Given the description of an element on the screen output the (x, y) to click on. 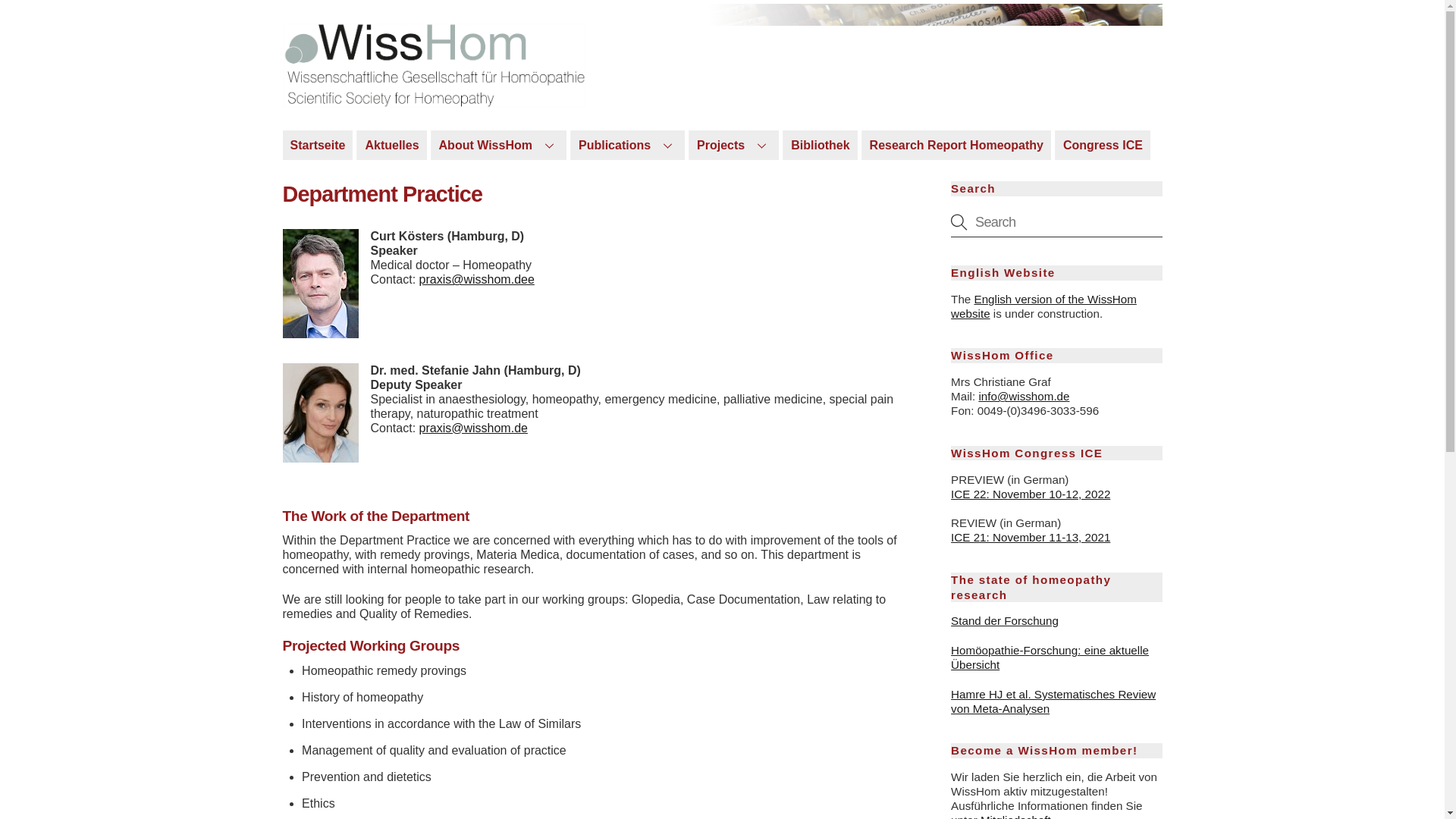
Mitgliedschaft (1015, 816)
Publications (627, 144)
Stand der Forschung (1004, 620)
About WissHom (498, 144)
Aktuelles (391, 144)
Startseite (317, 144)
Research Report Homeopathy (956, 144)
ICE 22: November 10-12, 2022 (1029, 493)
Hamre HJ et al. Systematisches Review von Meta-Analysen (1053, 700)
Bibliothek (820, 144)
